Given the description of an element on the screen output the (x, y) to click on. 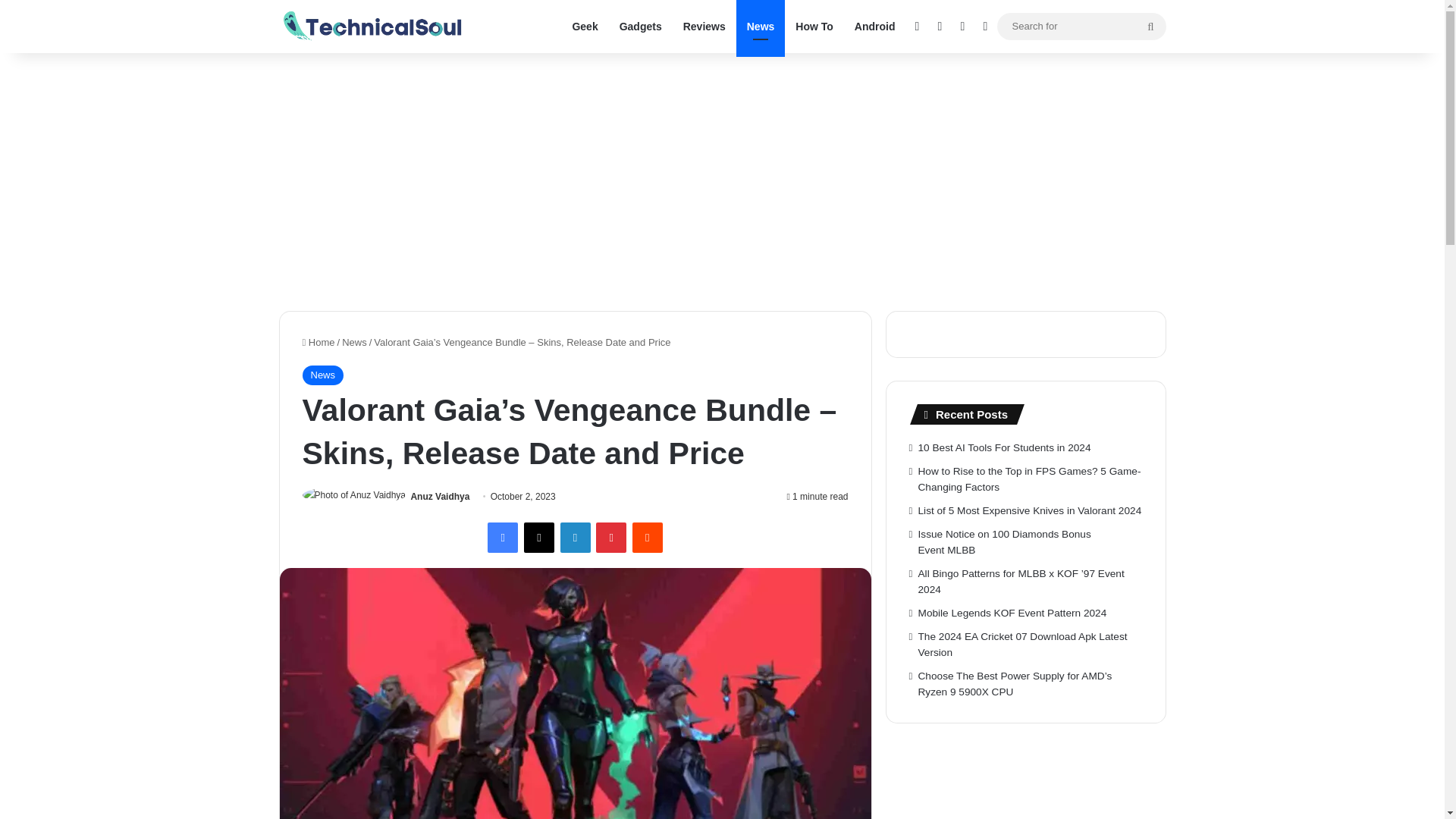
TechnicalSoul (373, 26)
Reddit (646, 537)
News (354, 342)
Android (874, 26)
Reddit (646, 537)
Search for (1150, 26)
Anuz Vaidhya (439, 496)
Reviews (704, 26)
LinkedIn (574, 537)
How To (814, 26)
Facebook (502, 537)
Pinterest (610, 537)
LinkedIn (574, 537)
Pinterest (610, 537)
Anuz Vaidhya (439, 496)
